Given the description of an element on the screen output the (x, y) to click on. 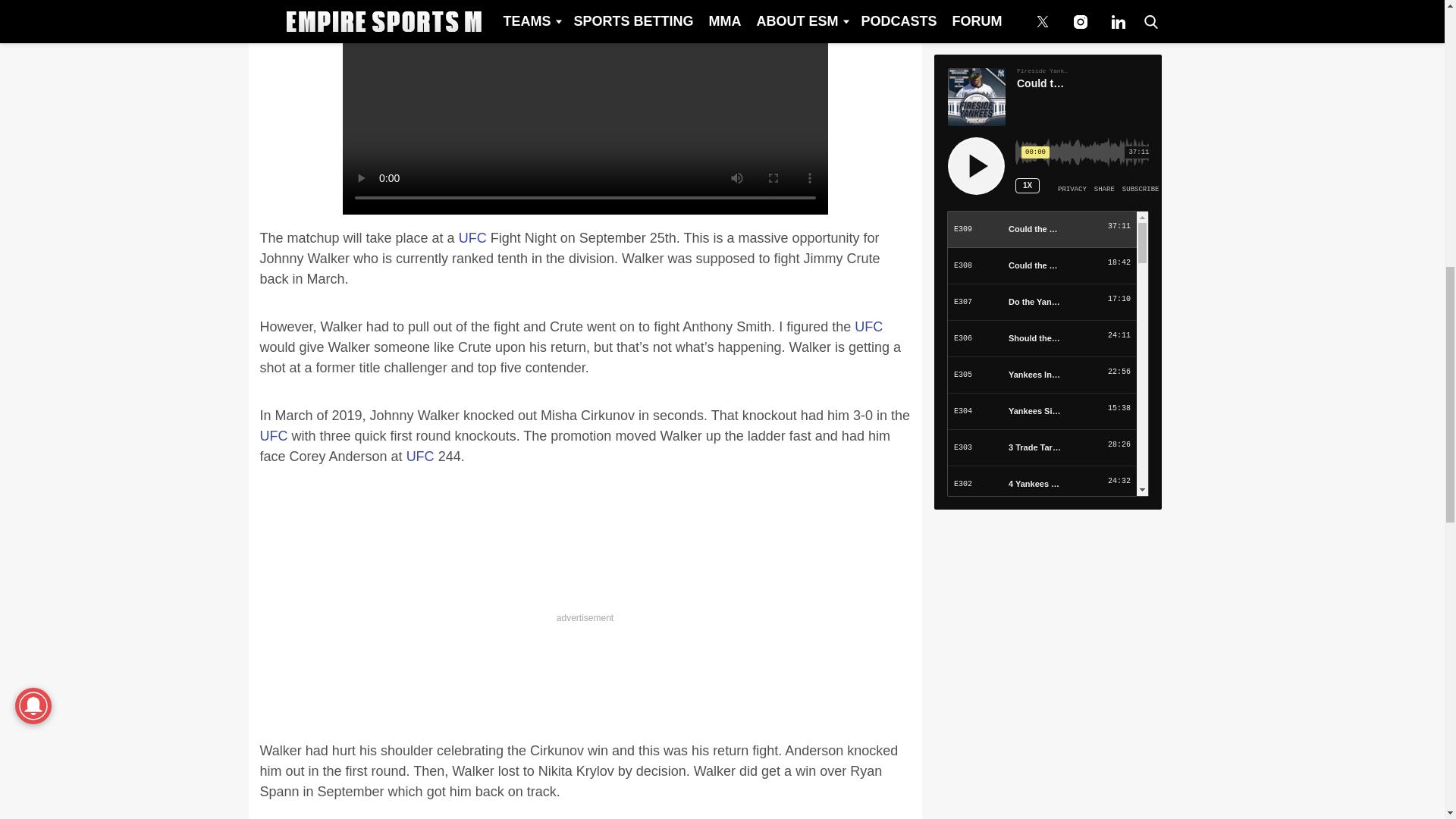
UFC (419, 456)
UFC (472, 237)
UFC (272, 435)
UFC (868, 326)
